Given the description of an element on the screen output the (x, y) to click on. 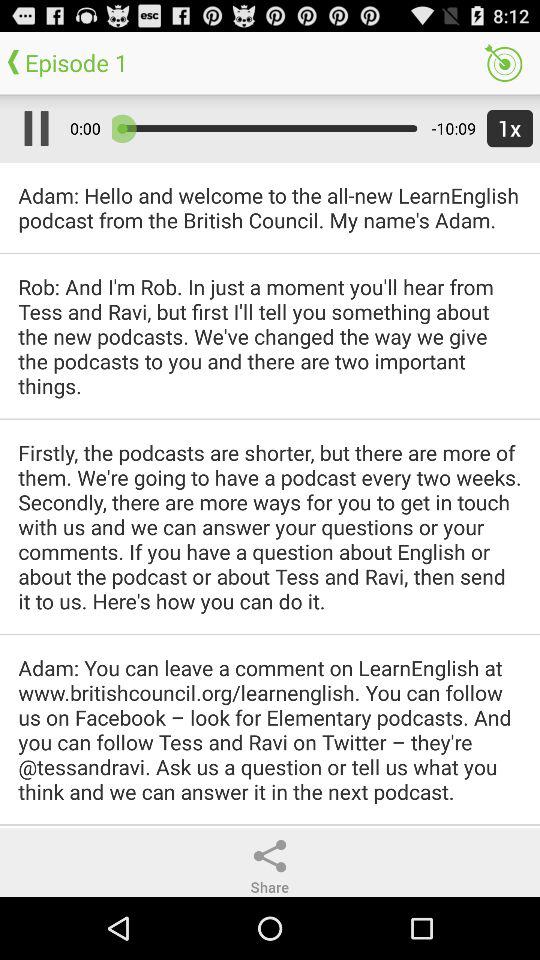
pause video (32, 128)
